Given the description of an element on the screen output the (x, y) to click on. 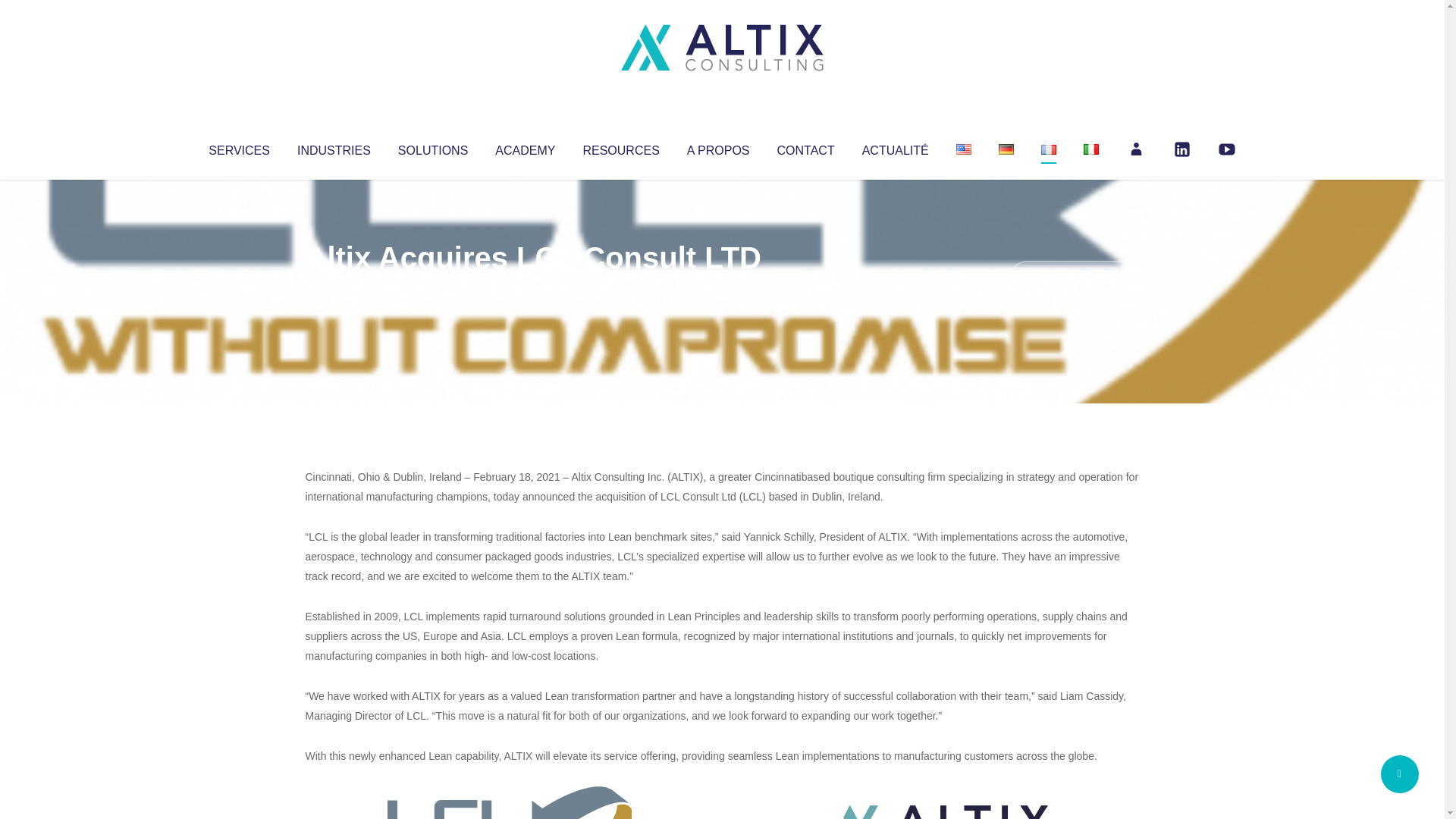
Uncategorized (530, 287)
RESOURCES (620, 146)
No Comments (1073, 278)
ACADEMY (524, 146)
SOLUTIONS (432, 146)
A PROPOS (718, 146)
Articles par Altix (333, 287)
INDUSTRIES (334, 146)
SERVICES (238, 146)
Altix (333, 287)
